Given the description of an element on the screen output the (x, y) to click on. 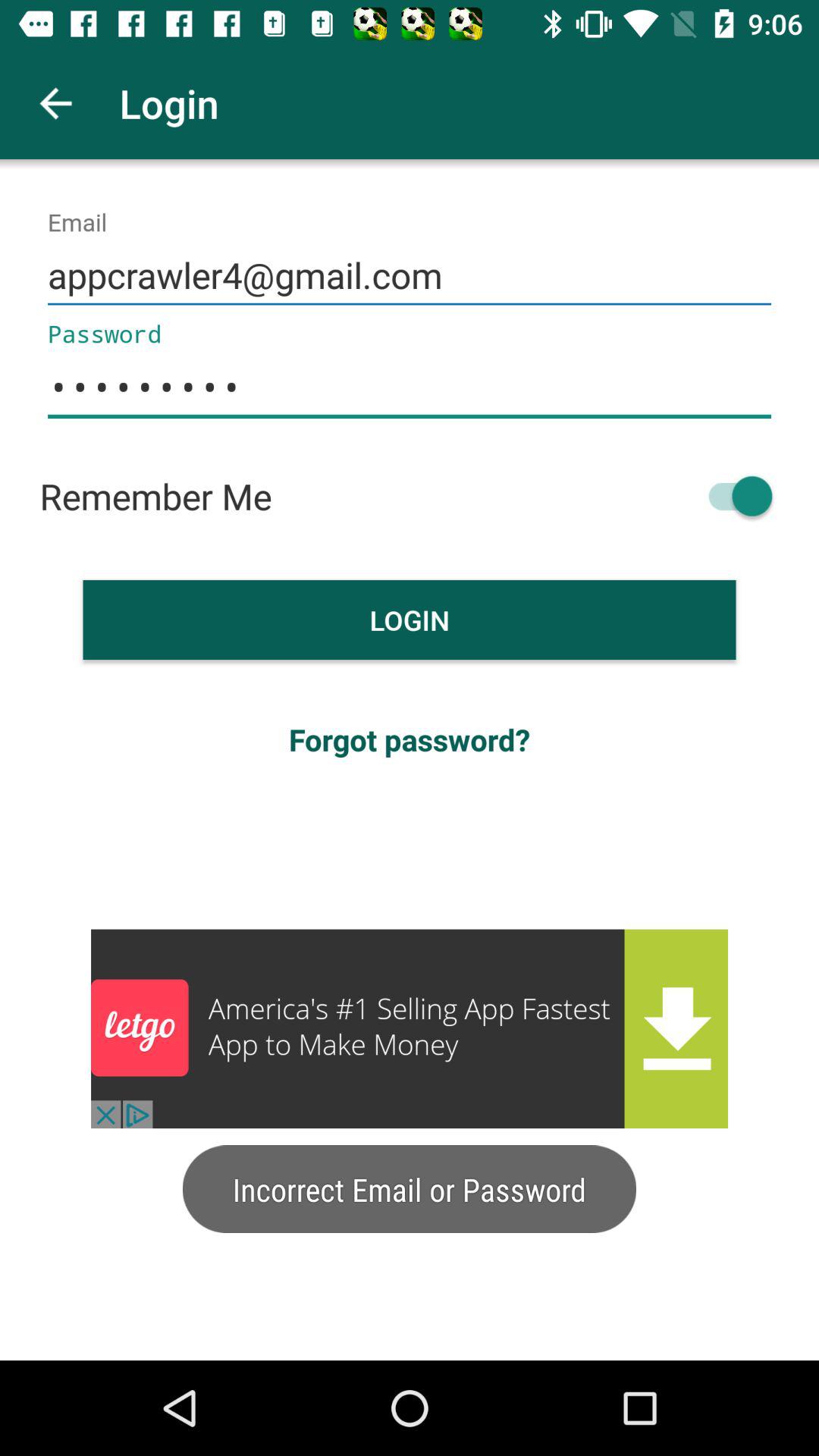
download app (409, 1028)
